Given the description of an element on the screen output the (x, y) to click on. 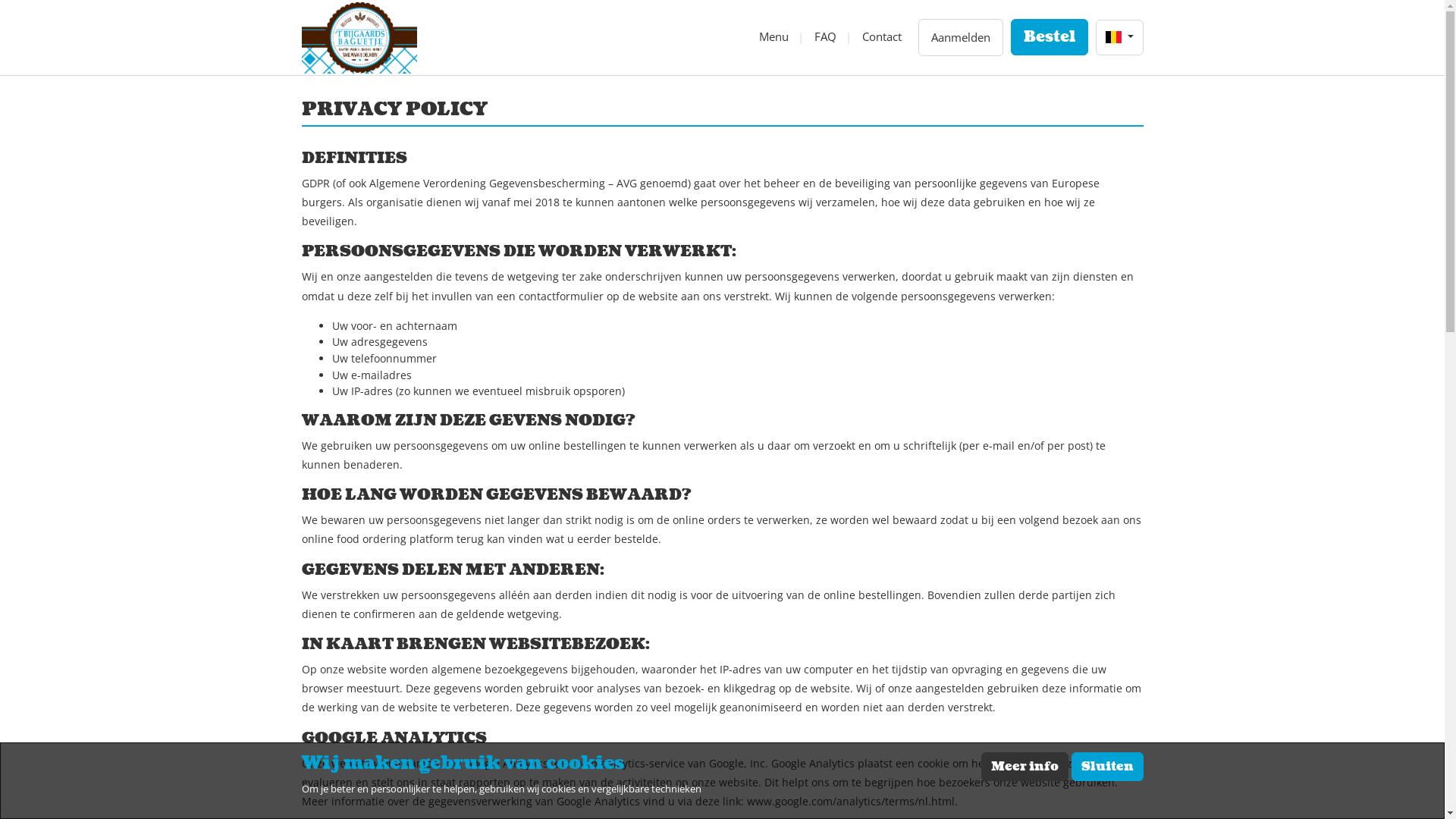
Bestel Element type: text (1049, 36)
Dutch Element type: hover (1113, 37)
Meer info Element type: text (1024, 766)
Sluiten Element type: text (1106, 766)
Contact Element type: text (881, 36)
Aanmelden Element type: text (960, 37)
't Bijgaards Baguetje Element type: hover (359, 37)
FAQ Element type: text (825, 36)
Menu Element type: text (773, 36)
